Given the description of an element on the screen output the (x, y) to click on. 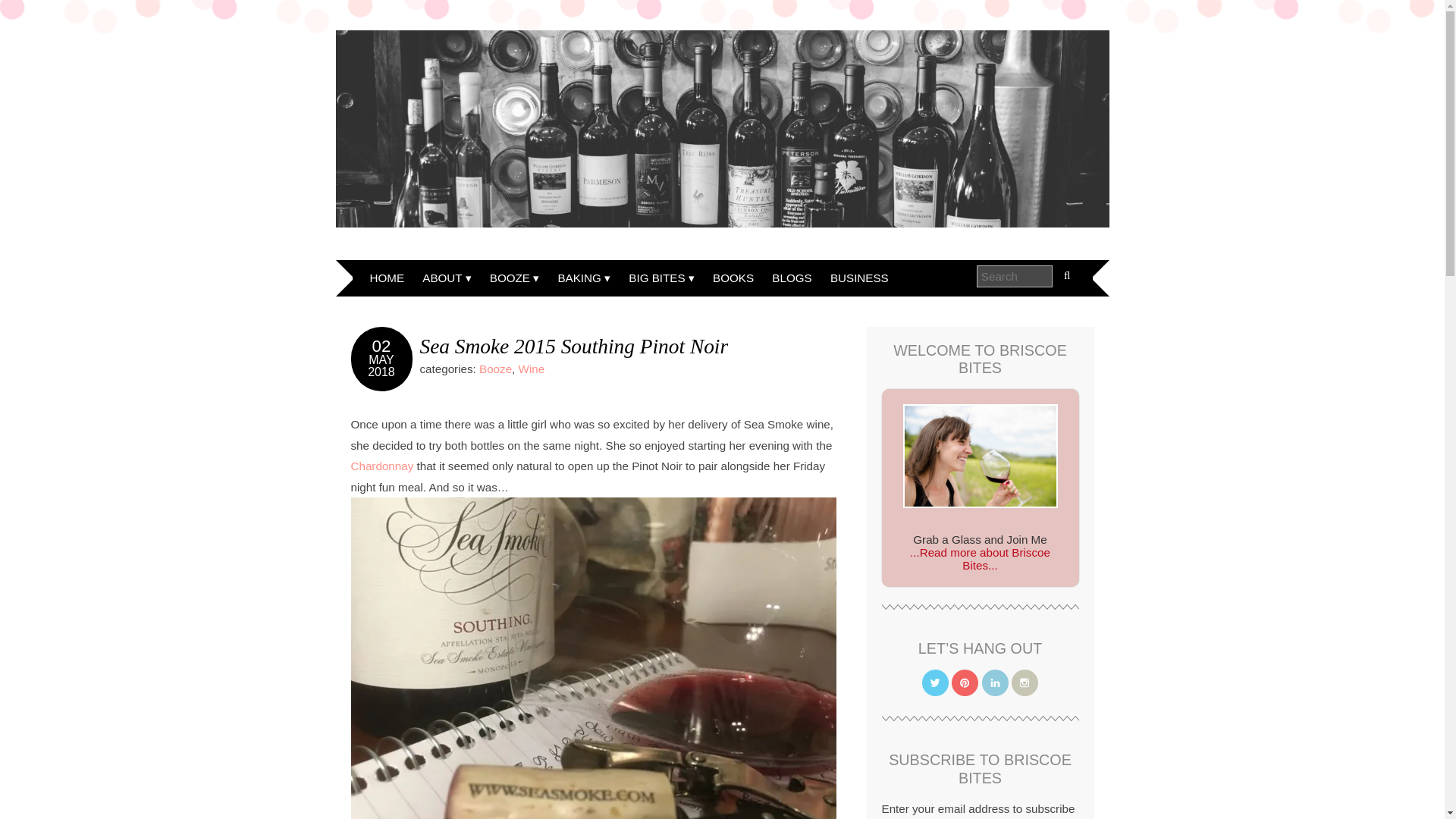
BAKING (583, 277)
Wine (531, 368)
BOOZE (514, 277)
Sea Smoke 2015 Southing Pinot Noir (574, 345)
Booze (495, 368)
Twitter (935, 682)
BIG BITES (661, 277)
Chardonnay (381, 465)
HOME (387, 277)
BLOGS (791, 277)
BUSINESS (859, 277)
Instagram (1024, 682)
BOOKS (732, 277)
ABOUT (446, 277)
